Given the description of an element on the screen output the (x, y) to click on. 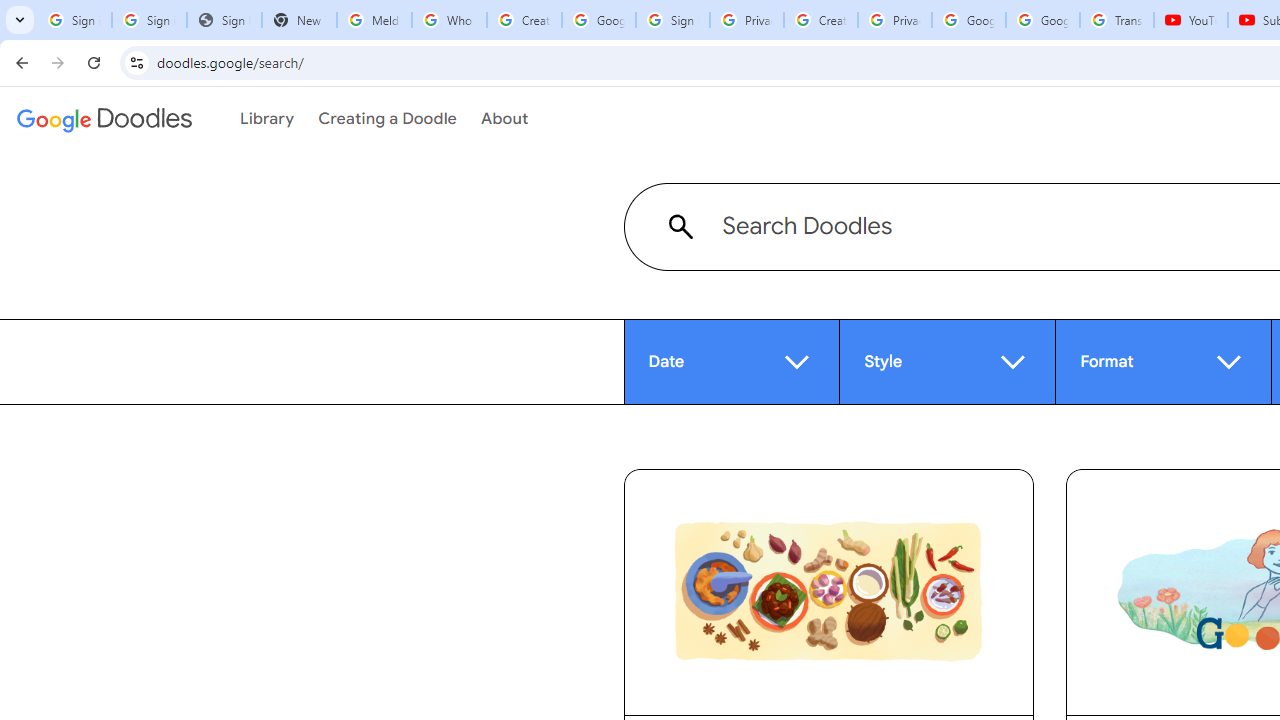
Sign In - USA TODAY (224, 20)
Celebrating Rendang (829, 592)
Date (731, 361)
Format (1163, 361)
Sign in - Google Accounts (673, 20)
Google Account (1043, 20)
Create your Google Account (820, 20)
